Given the description of an element on the screen output the (x, y) to click on. 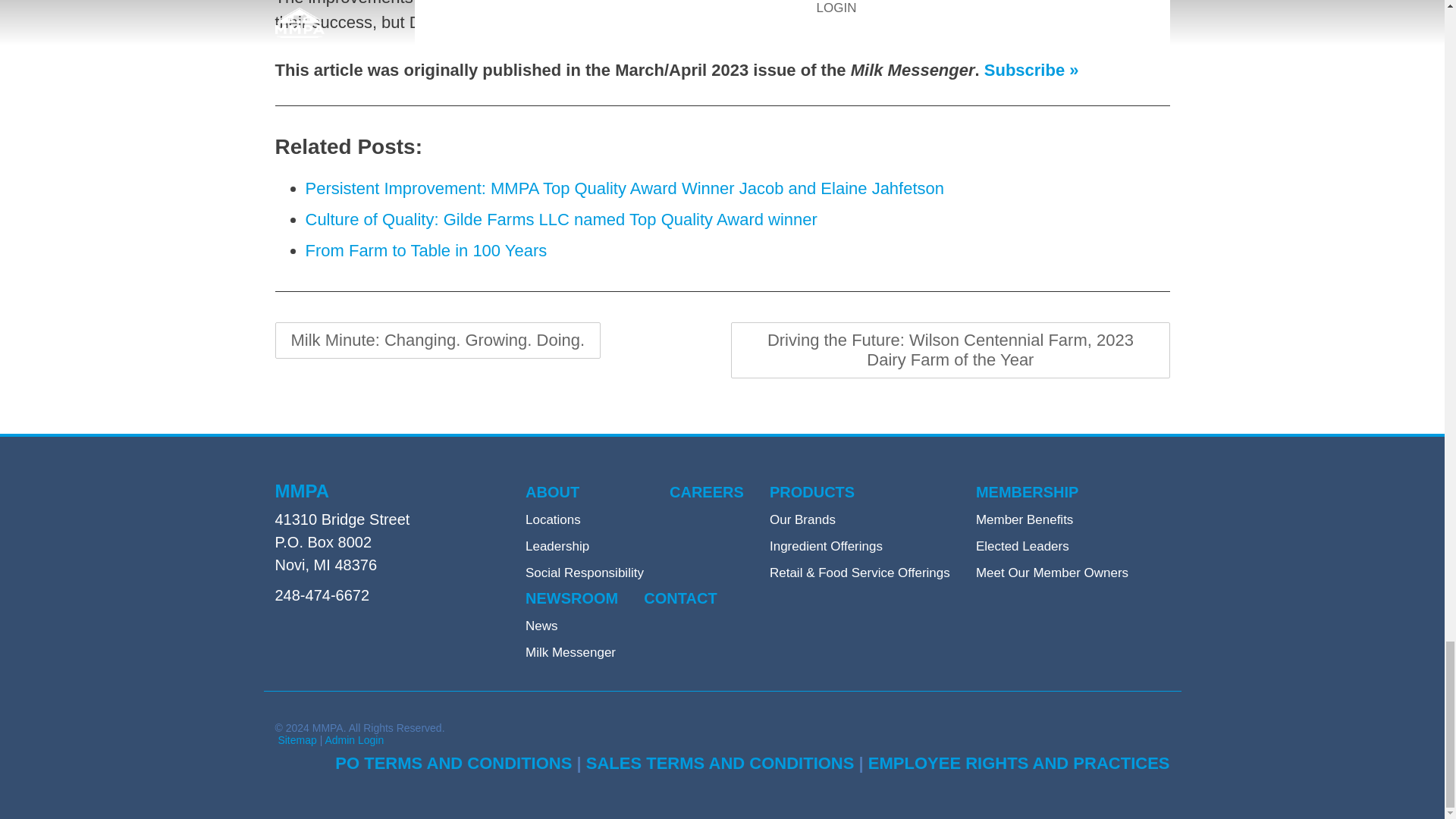
PRODUCTS (812, 492)
ABOUT (552, 492)
Locations (552, 519)
From Farm to Table in 100 Years (425, 250)
Leadership (557, 546)
Milk Minute: Changing. Growing. Doing. (437, 340)
CAREERS (706, 492)
Social Responsibility (584, 572)
